Given the description of an element on the screen output the (x, y) to click on. 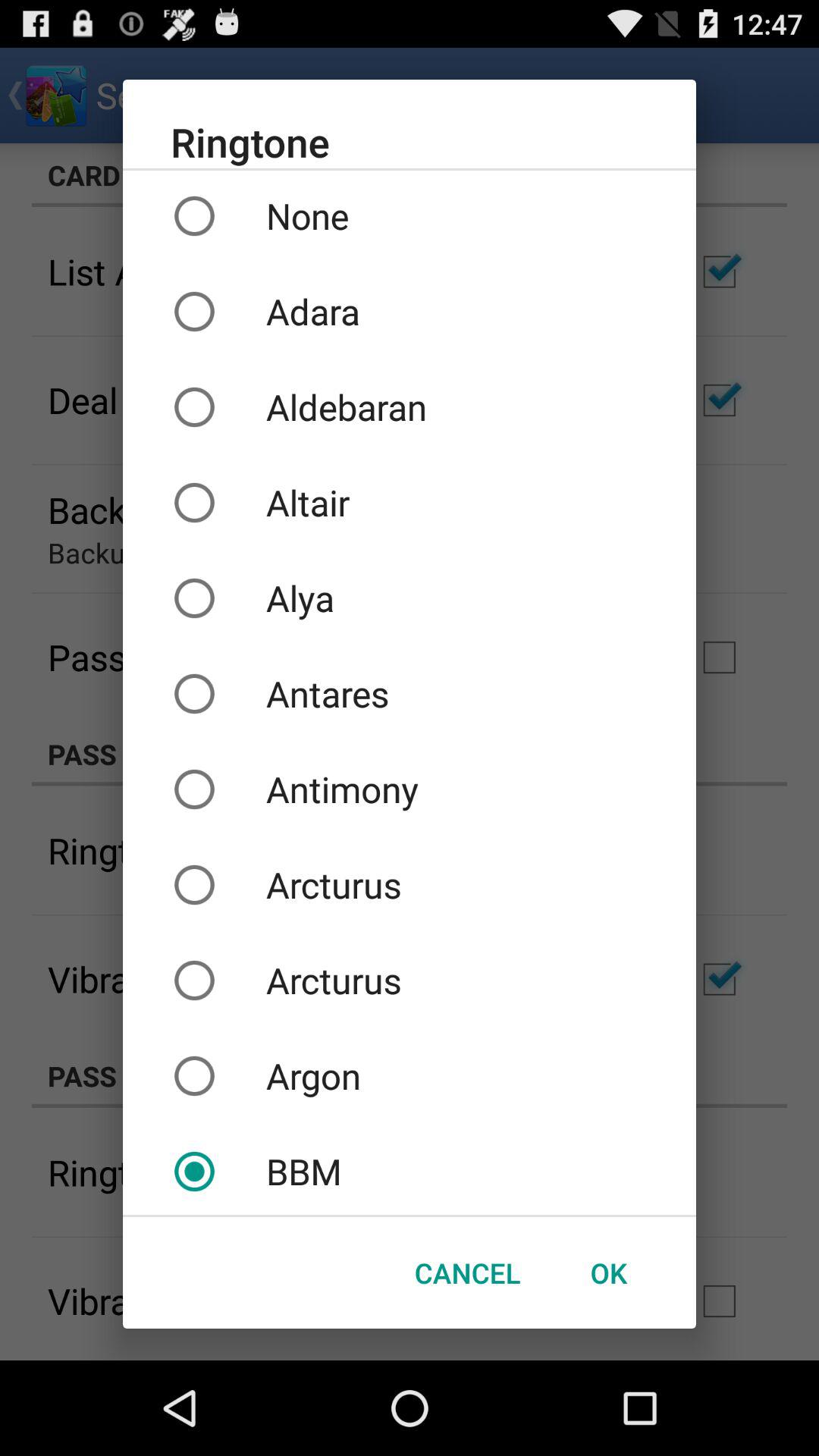
select the icon next to cancel button (608, 1272)
